Given the description of an element on the screen output the (x, y) to click on. 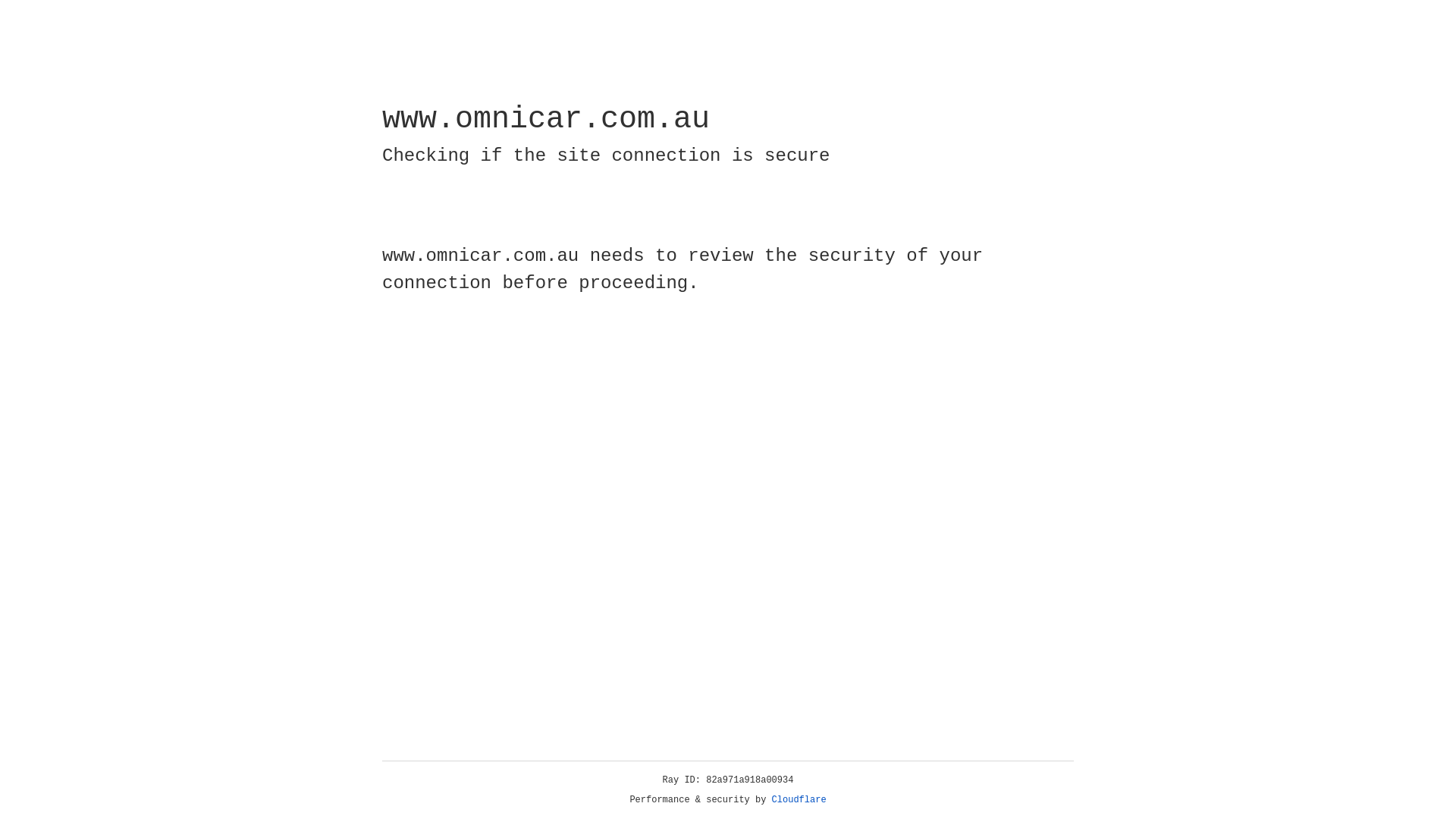
Cloudflare Element type: text (798, 799)
